Given the description of an element on the screen output the (x, y) to click on. 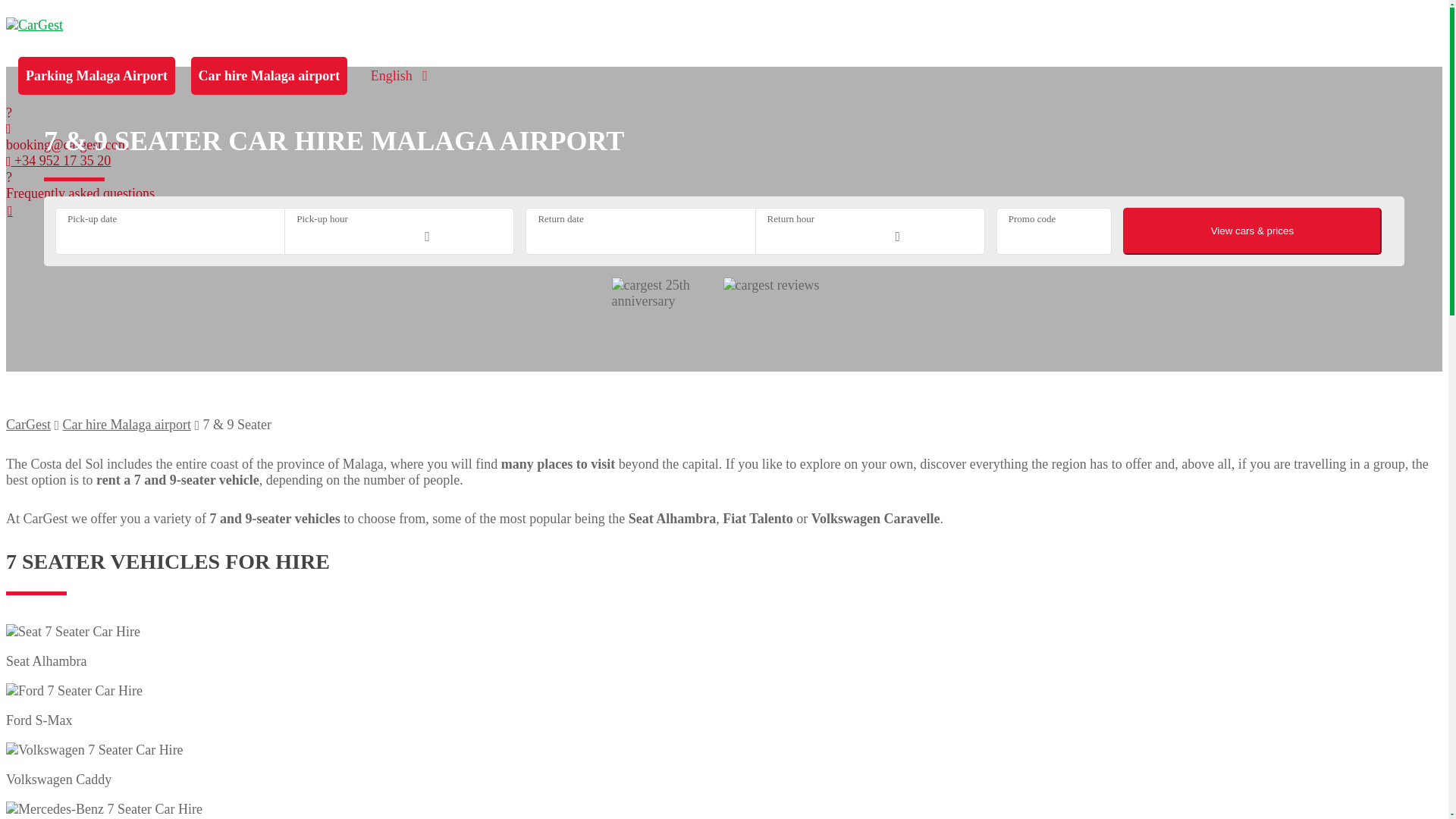
CarGest - Car Hire (33, 24)
Car hire Malaga airport (268, 75)
CarGest (27, 424)
Parking Malaga Airport (95, 75)
English (395, 75)
CarGest (27, 424)
Car hire Malaga airport (126, 424)
Contact by telephone (57, 160)
Request information (577, 508)
